Given the description of an element on the screen output the (x, y) to click on. 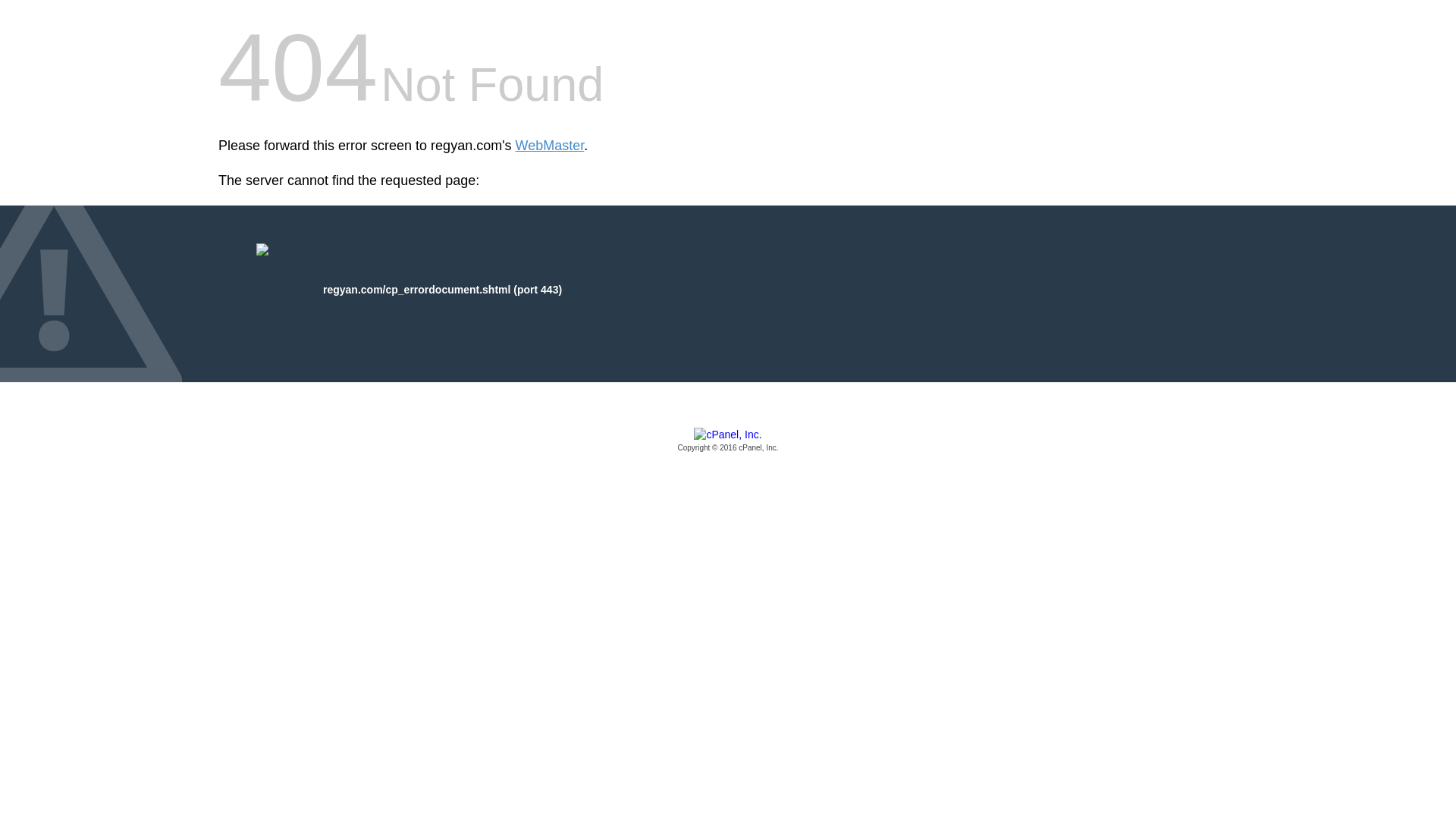
cPanel, Inc. (727, 440)
WebMaster (550, 145)
